Given the description of an element on the screen output the (x, y) to click on. 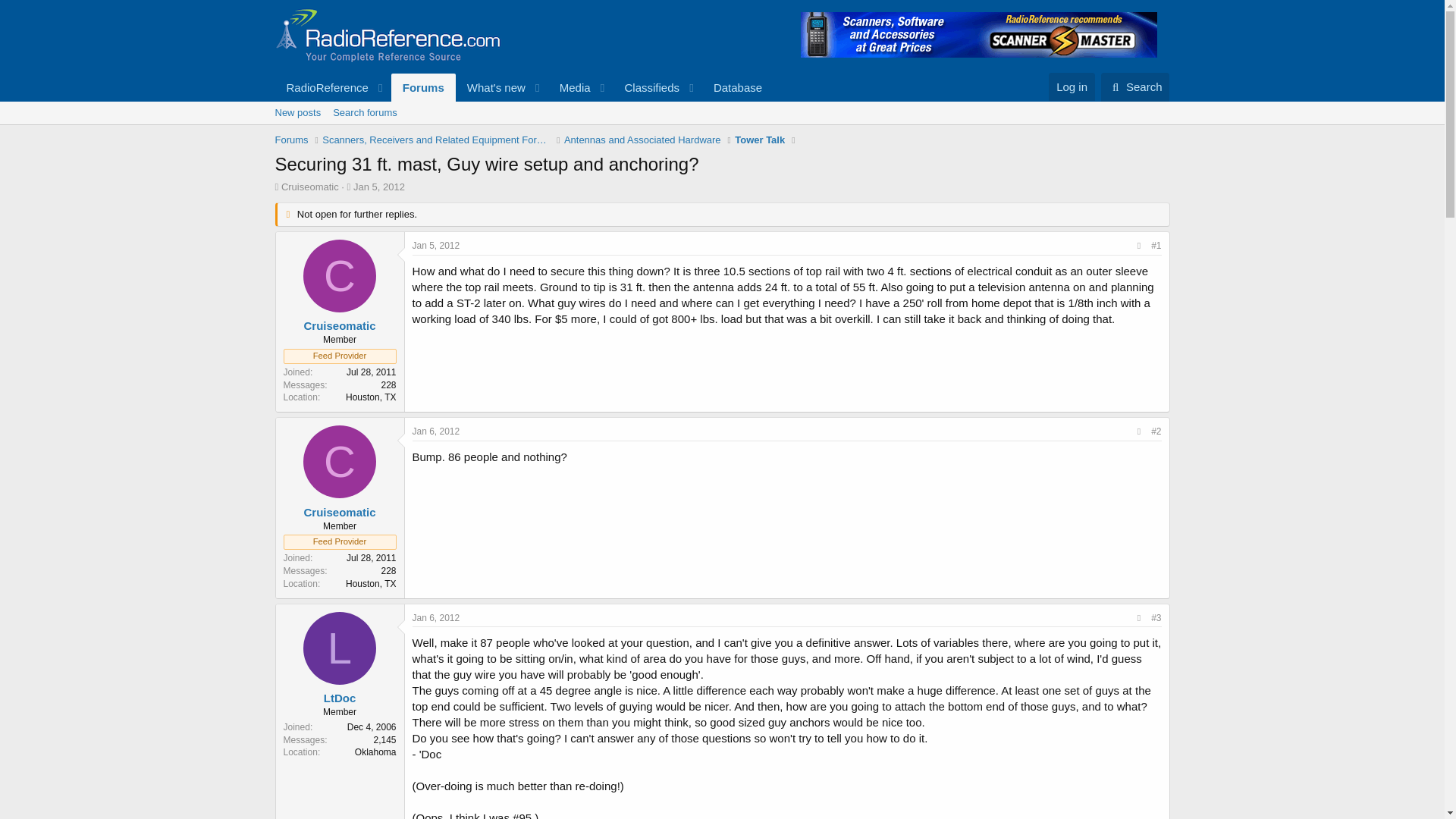
Forums (423, 87)
Log in (1071, 86)
Media (570, 87)
Database (737, 87)
Search (1135, 86)
Classifieds (645, 87)
Search forums (364, 112)
Jan 6, 2012 at 9:16 AM (436, 617)
Search (1135, 86)
